Given the description of an element on the screen output the (x, y) to click on. 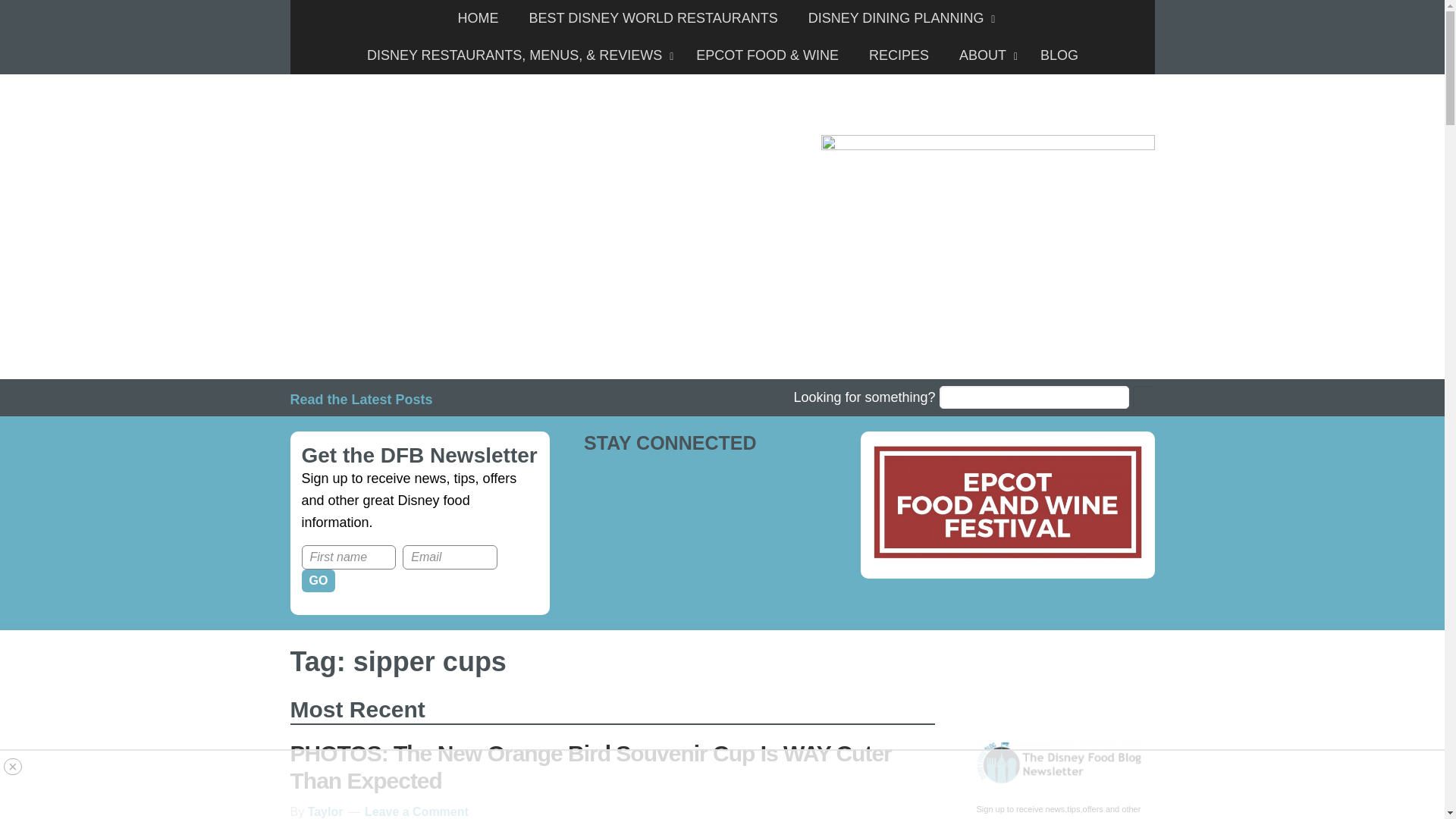
GO (318, 580)
Search (1143, 399)
DISNEY DINING PLANNING (898, 18)
HOME (477, 18)
BEST DISNEY WORLD RESTAURANTS (653, 18)
